Given the description of an element on the screen output the (x, y) to click on. 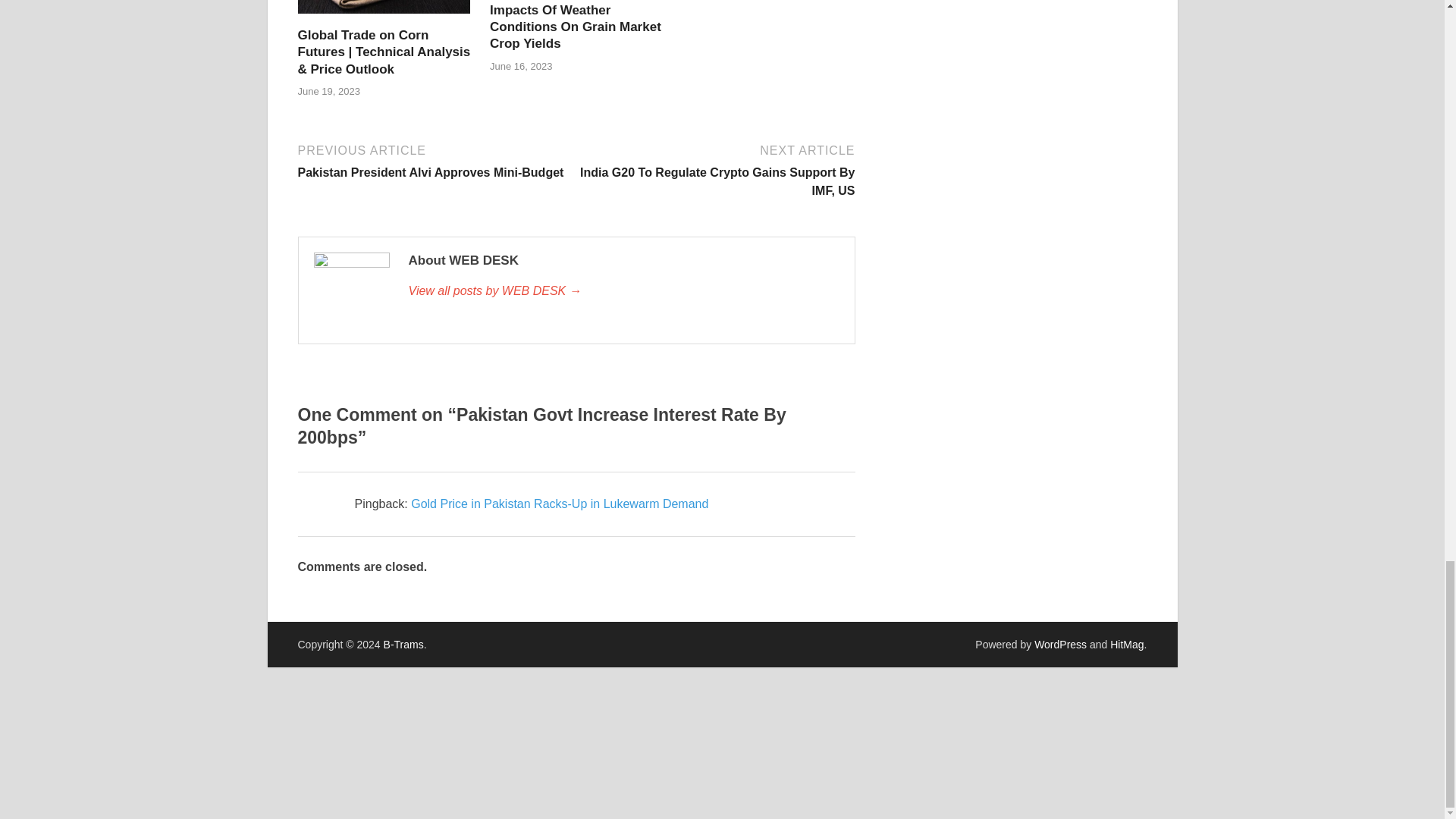
HitMag WordPress Theme (1125, 644)
WEB DESK (622, 290)
Impacts Of Weather Conditions On Grain Market Crop Yields (575, 26)
B-Trams (403, 644)
WordPress (1059, 644)
